Given the description of an element on the screen output the (x, y) to click on. 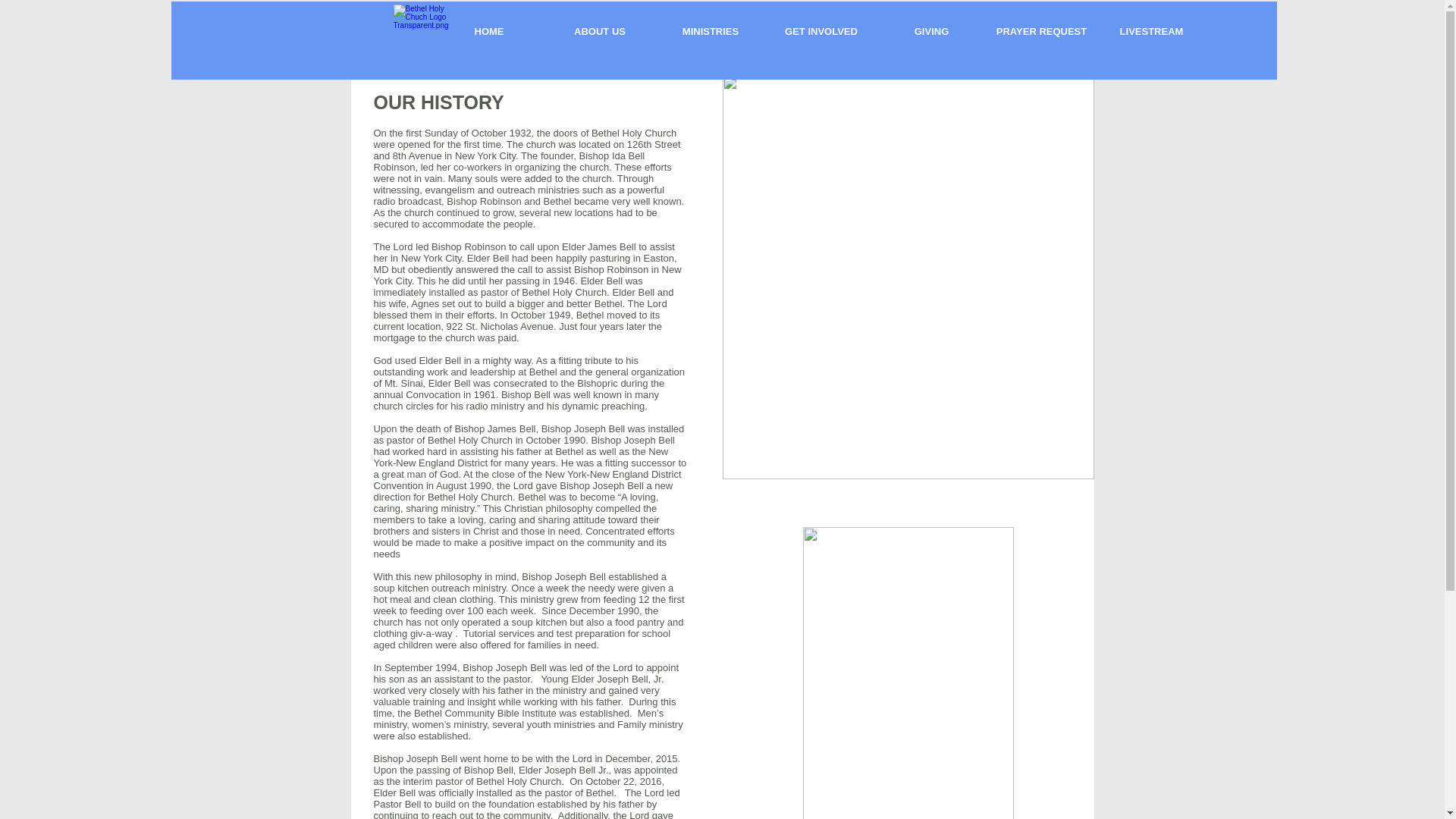
PRAYER REQUEST (1041, 31)
MINISTRIES (710, 31)
ABOUT US (599, 31)
LIVESTREAM (1151, 31)
GET INVOLVED (820, 31)
GIVING (931, 31)
HOME (488, 31)
